Given the description of an element on the screen output the (x, y) to click on. 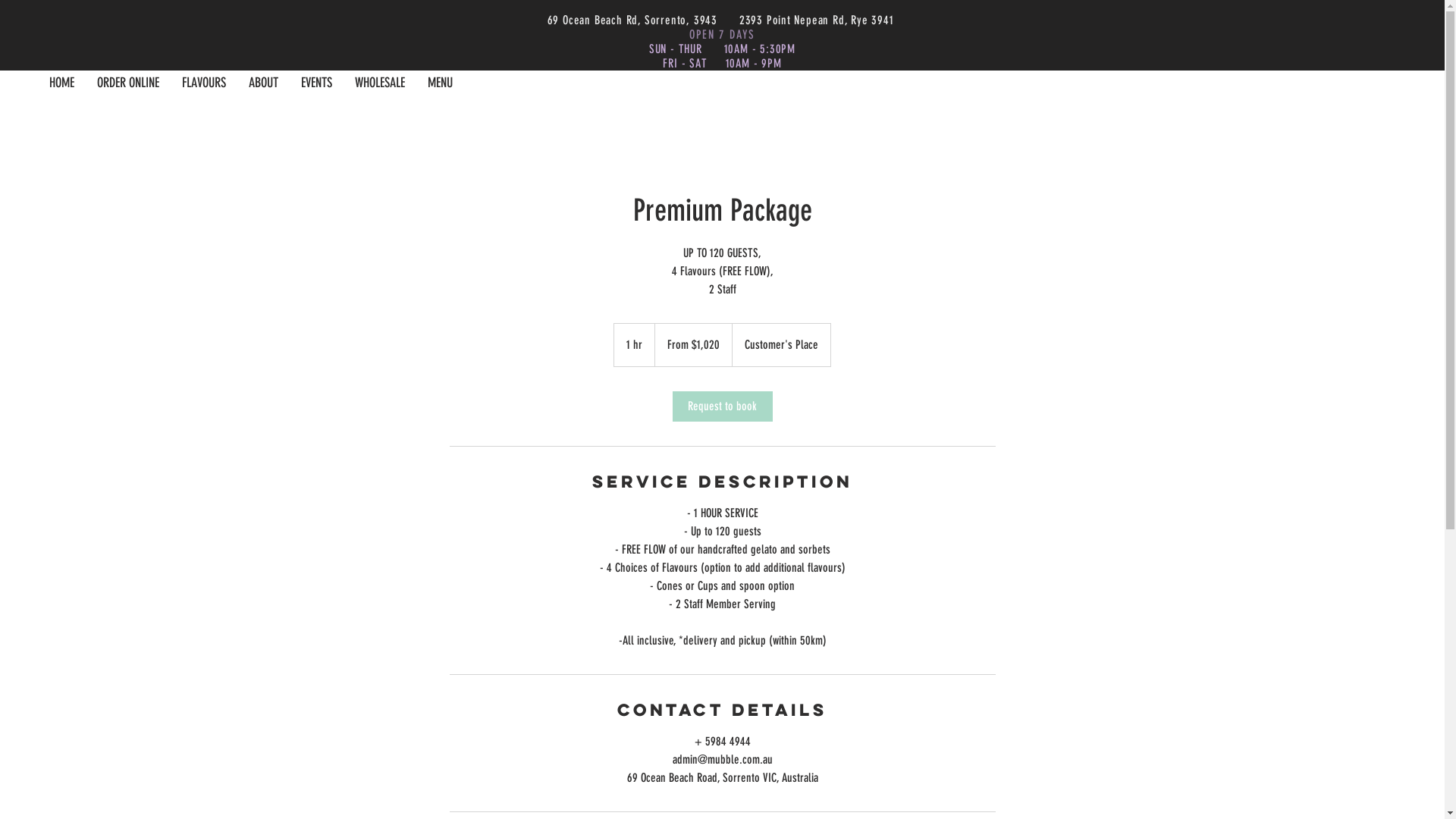
ABOUT Element type: text (263, 82)
Request to book Element type: text (721, 406)
EVENTS Element type: text (316, 82)
FLAVOURS Element type: text (203, 82)
ORDER ONLINE Element type: text (127, 82)
WHOLESALE Element type: text (379, 82)
MENU Element type: text (440, 82)
HOME Element type: text (61, 82)
